Given the description of an element on the screen output the (x, y) to click on. 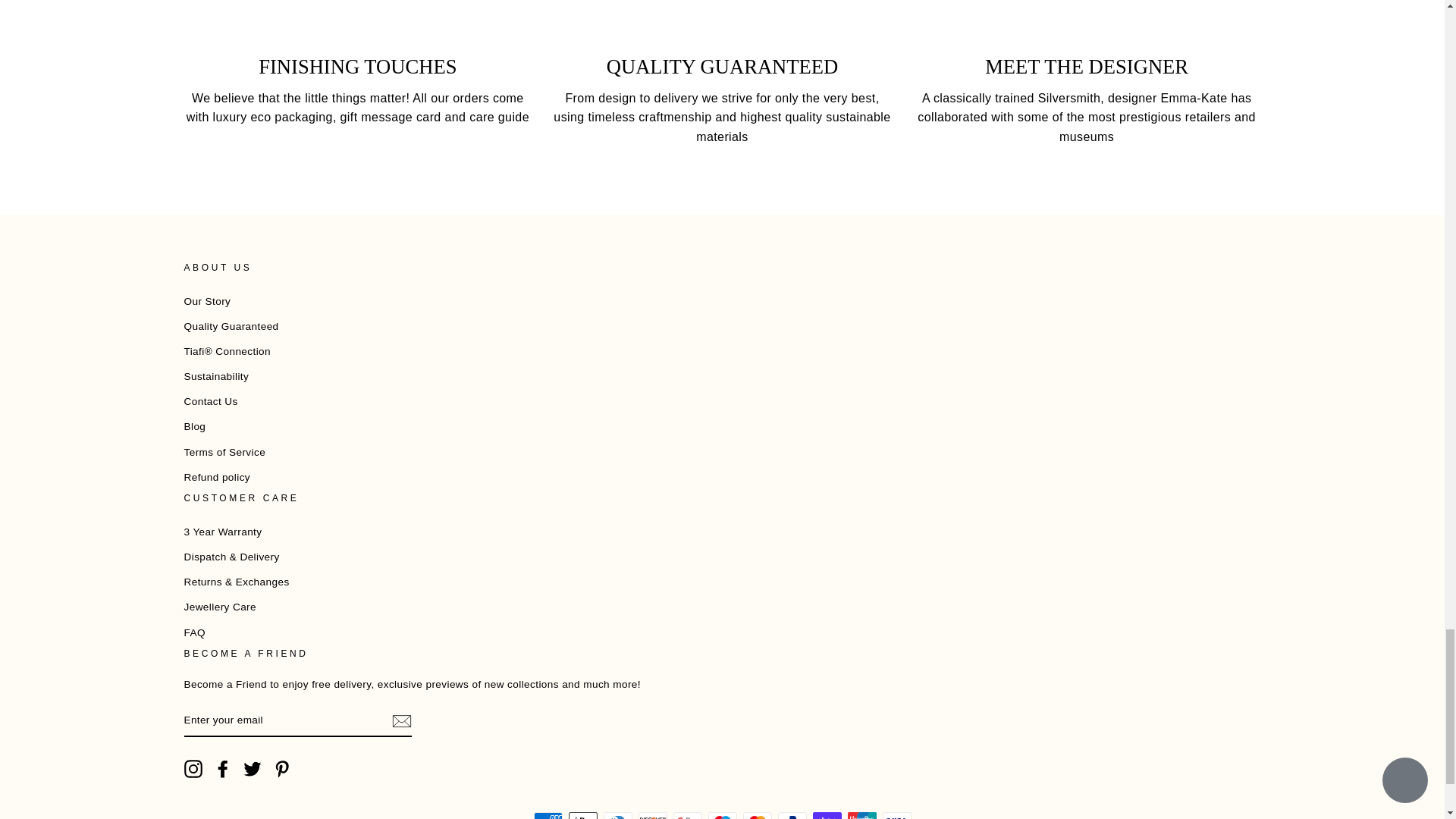
Tiafi Jewellery on Twitter (251, 769)
Tiafi Jewellery on Pinterest (282, 769)
Tiafi Jewellery on Facebook (222, 769)
Tiafi Jewellery on Instagram (192, 769)
